Given the description of an element on the screen output the (x, y) to click on. 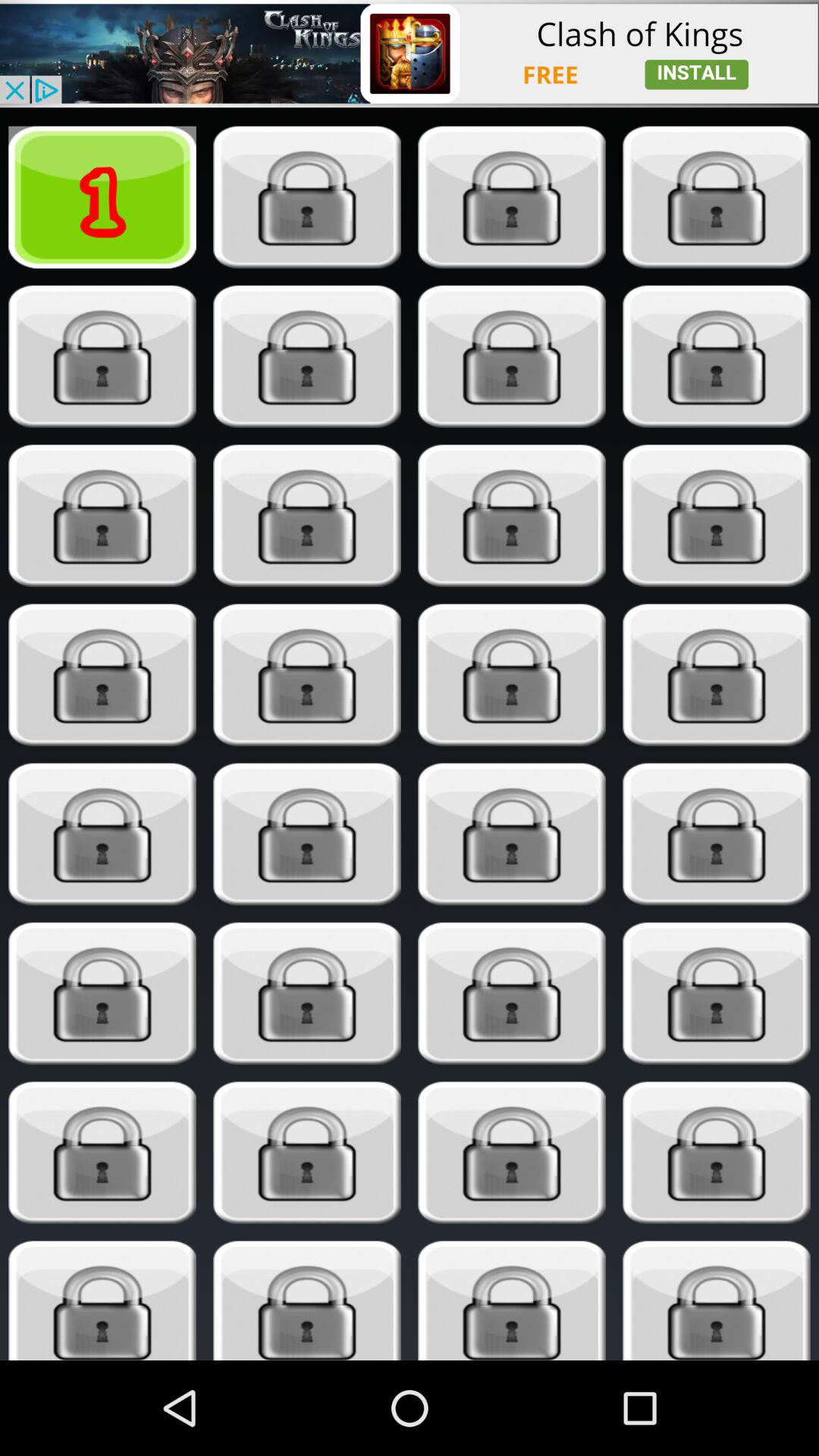
open locked box (511, 834)
